Given the description of an element on the screen output the (x, y) to click on. 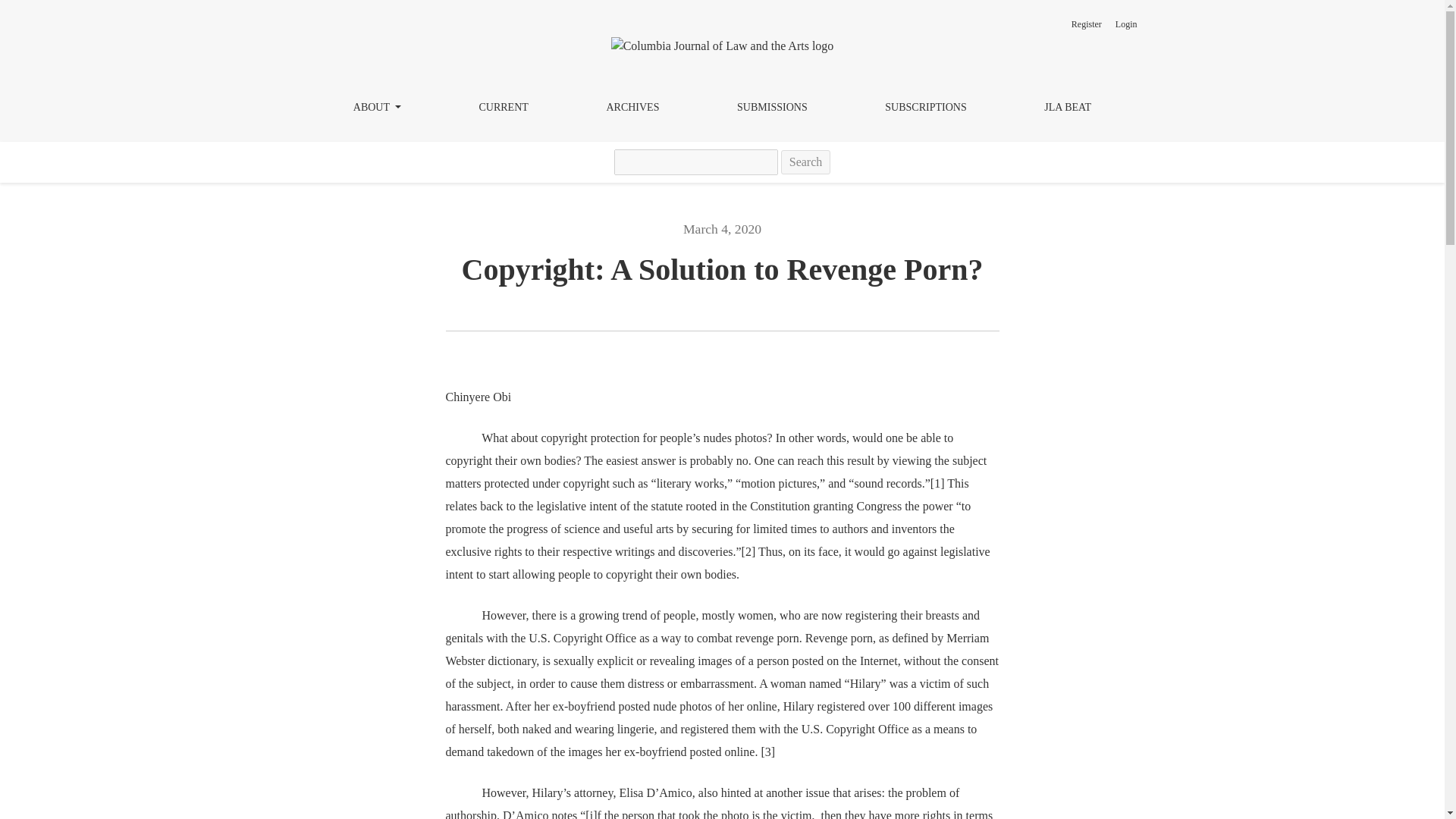
ARCHIVES (631, 107)
SUBMISSIONS (772, 107)
SUBSCRIPTIONS (925, 107)
CURRENT (502, 107)
Login (1125, 24)
ABOUT (376, 107)
JLA BEAT (1066, 107)
Search (805, 161)
Register (1085, 24)
